Given the description of an element on the screen output the (x, y) to click on. 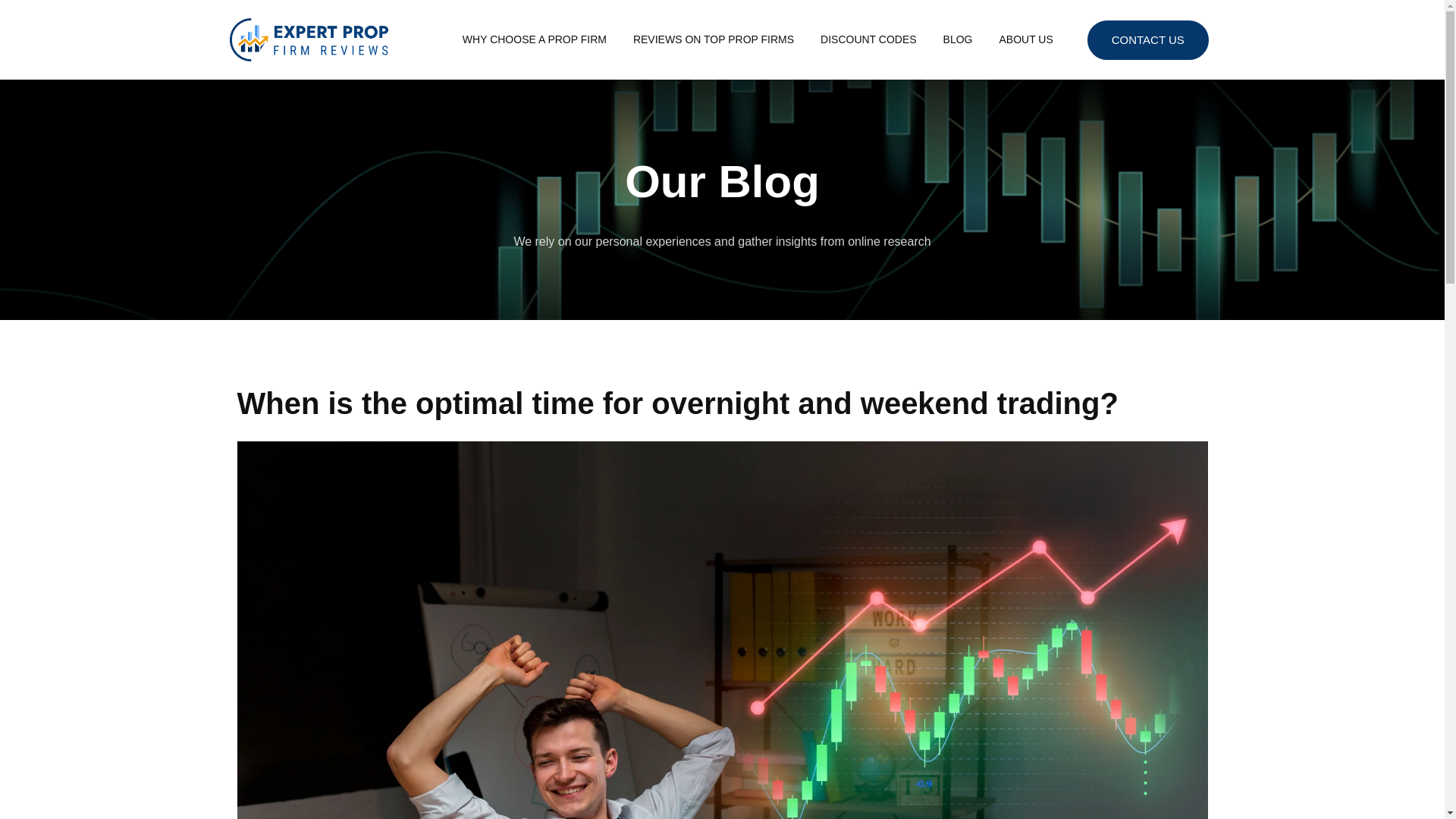
ABOUT US (1025, 39)
REVIEWS ON TOP PROP FIRMS (713, 39)
CONTACT US (1147, 38)
DISCOUNT CODES (869, 39)
WHY CHOOSE A PROP FIRM (535, 39)
